Given the description of an element on the screen output the (x, y) to click on. 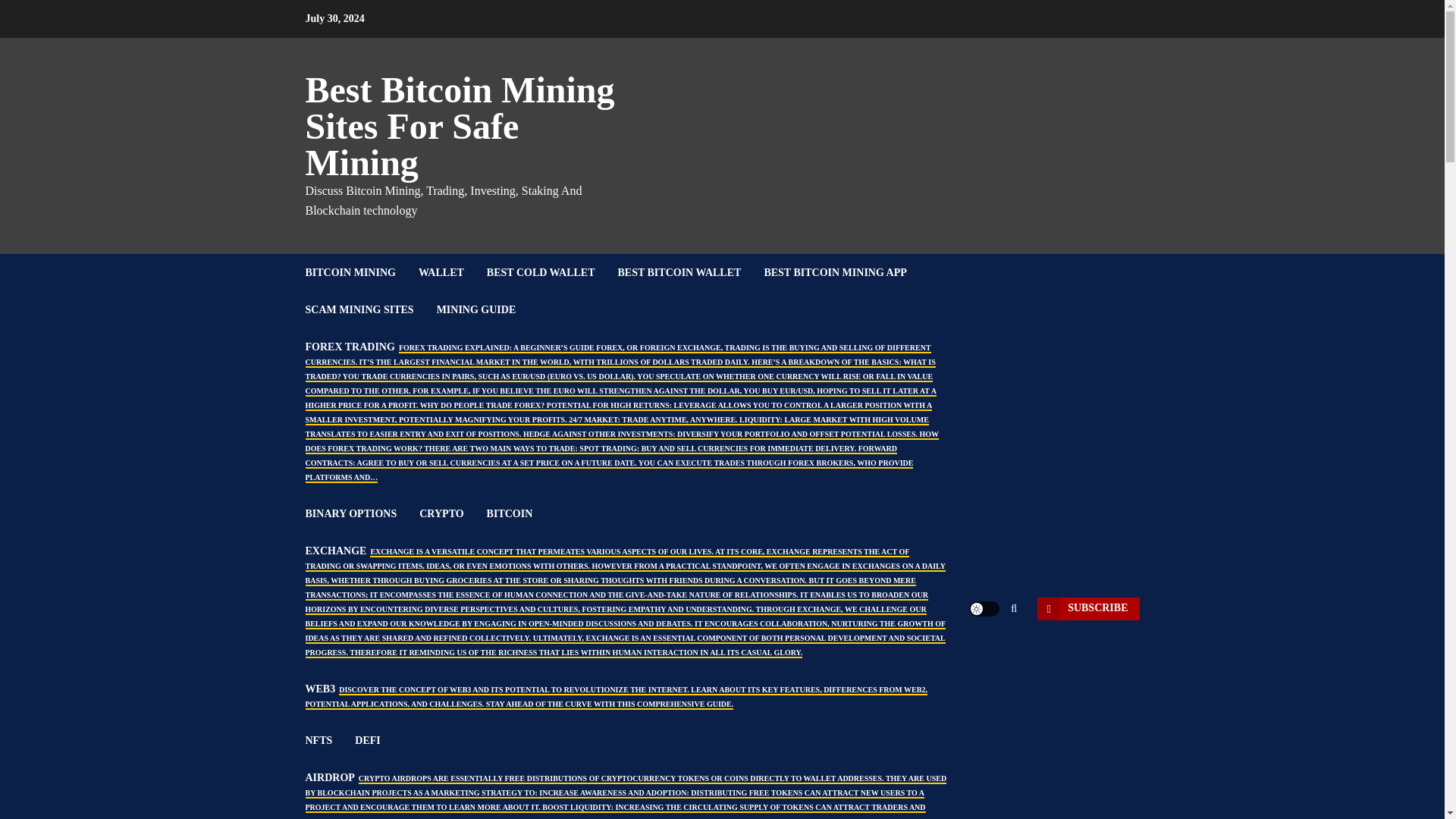
WALLET (452, 272)
CRYPTO (452, 513)
SCAM MINING SITES (369, 309)
MINING GUIDE (487, 309)
Search (990, 654)
BINARY OPTIONS (361, 513)
BITCOIN MINING (360, 272)
BEST COLD WALLET (551, 272)
BEST BITCOIN MINING APP (845, 272)
Best Bitcoin Mining Sites For Safe Mining (459, 125)
NFTS (329, 740)
BITCOIN (521, 513)
BEST BITCOIN WALLET (689, 272)
